Given the description of an element on the screen output the (x, y) to click on. 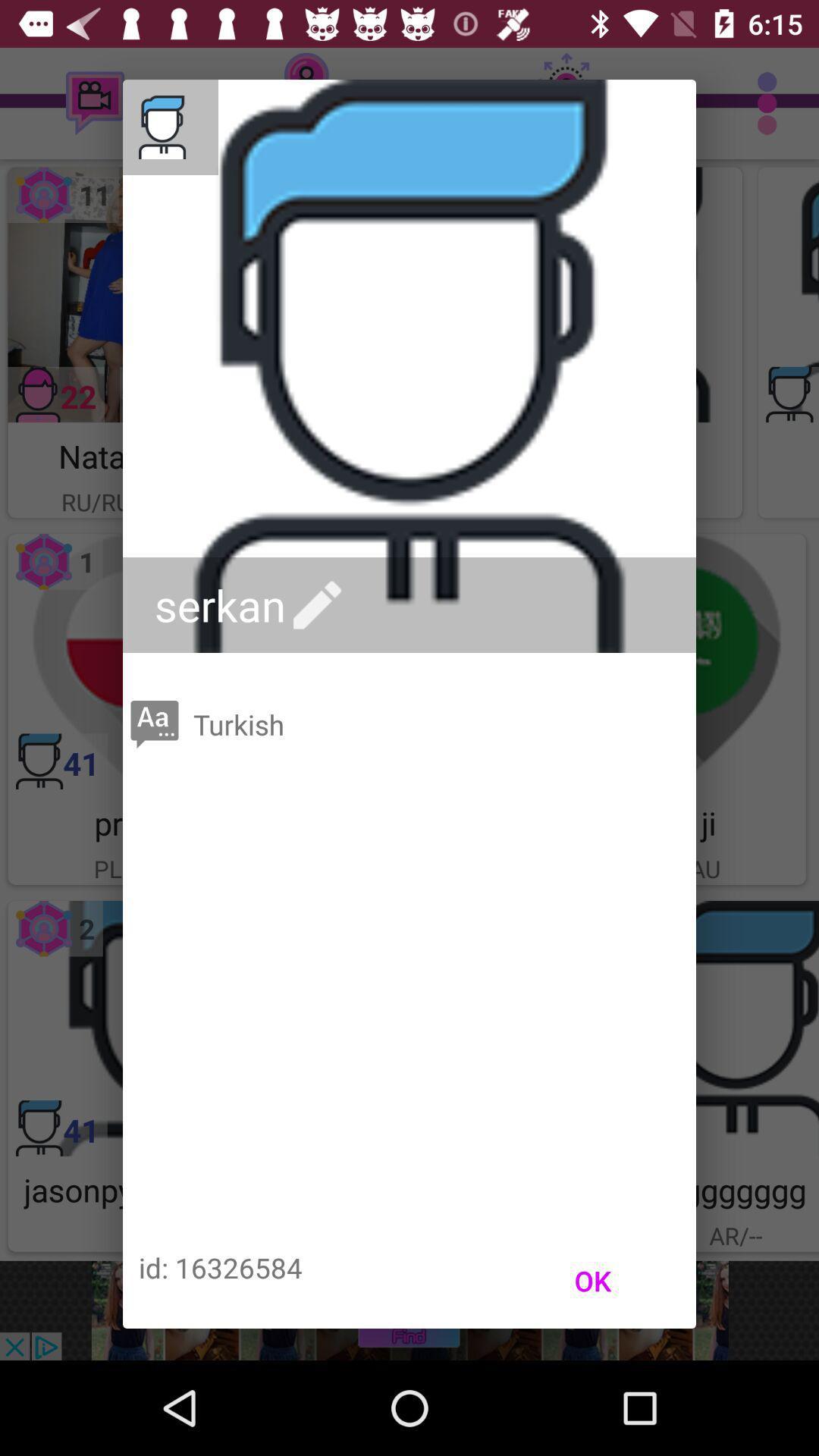
click the icon above the  turkish icon (251, 605)
